Given the description of an element on the screen output the (x, y) to click on. 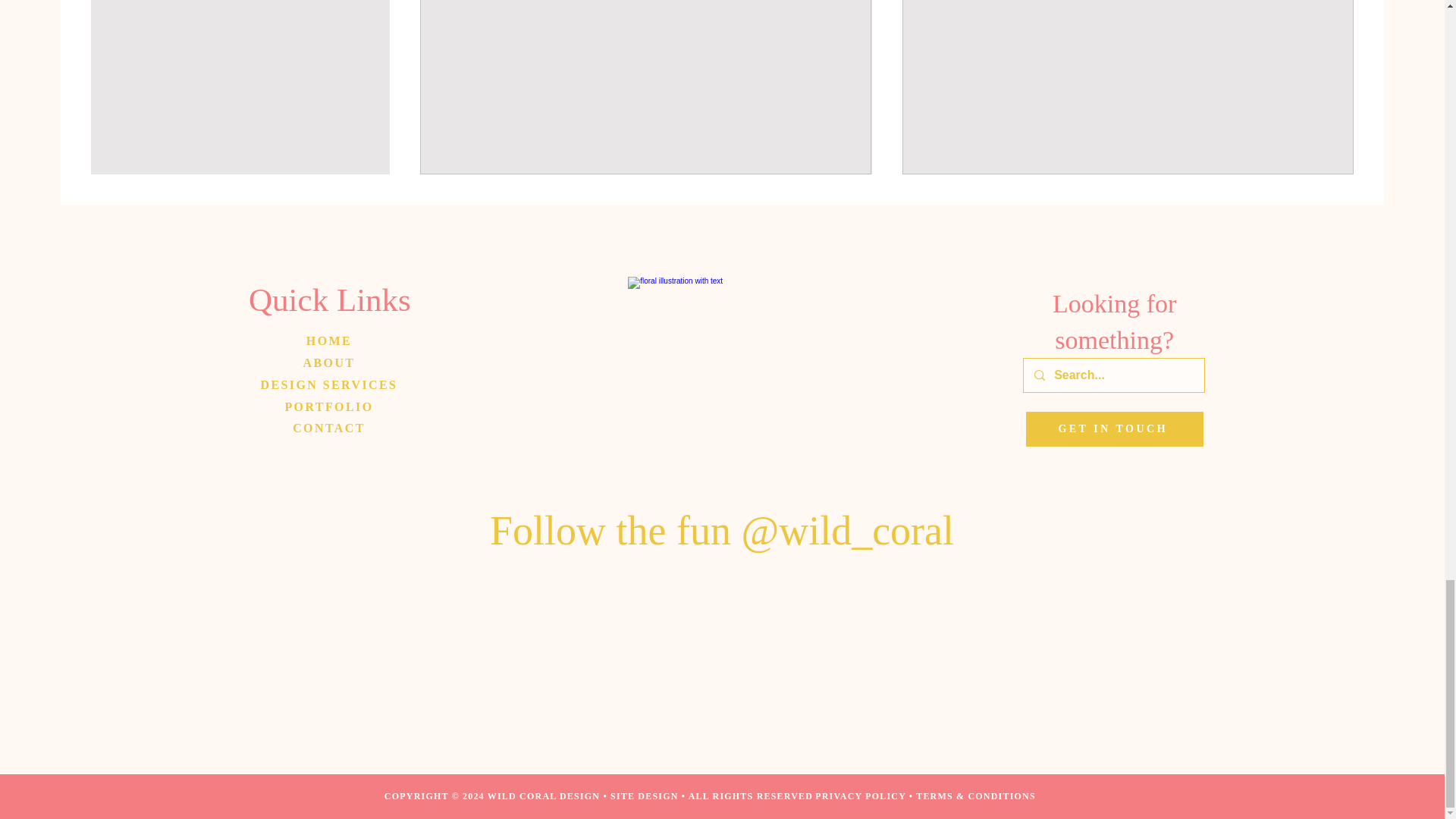
GET IN TOUCH (1115, 428)
HOME (328, 340)
CONTACT (328, 427)
ABOUT (328, 362)
PRIVACY POLICY (860, 796)
SITE DESIGN (644, 796)
